Given the description of an element on the screen output the (x, y) to click on. 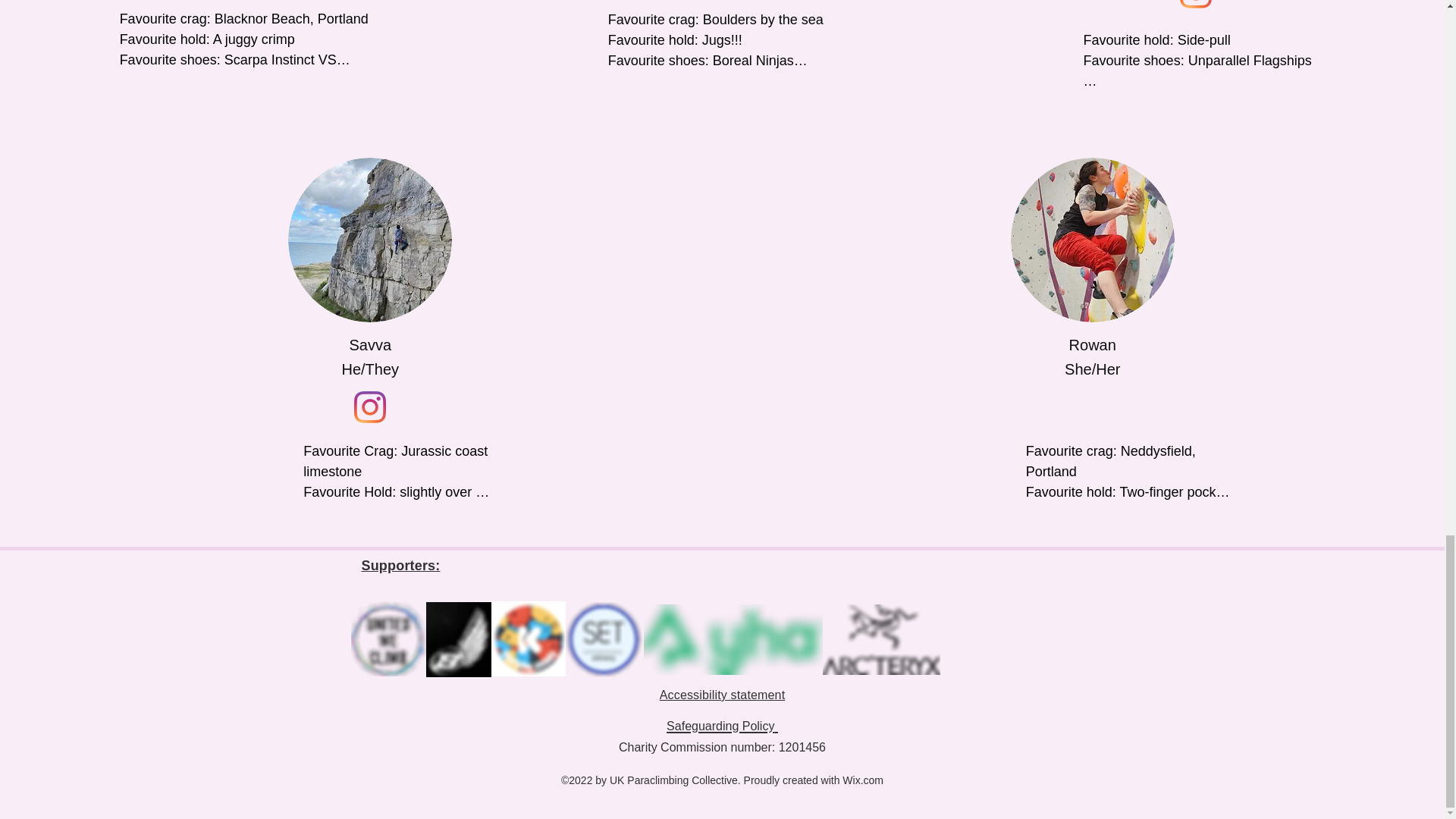
Accessibility statement (722, 694)
Safeguarding Policy  (721, 723)
